Given the description of an element on the screen output the (x, y) to click on. 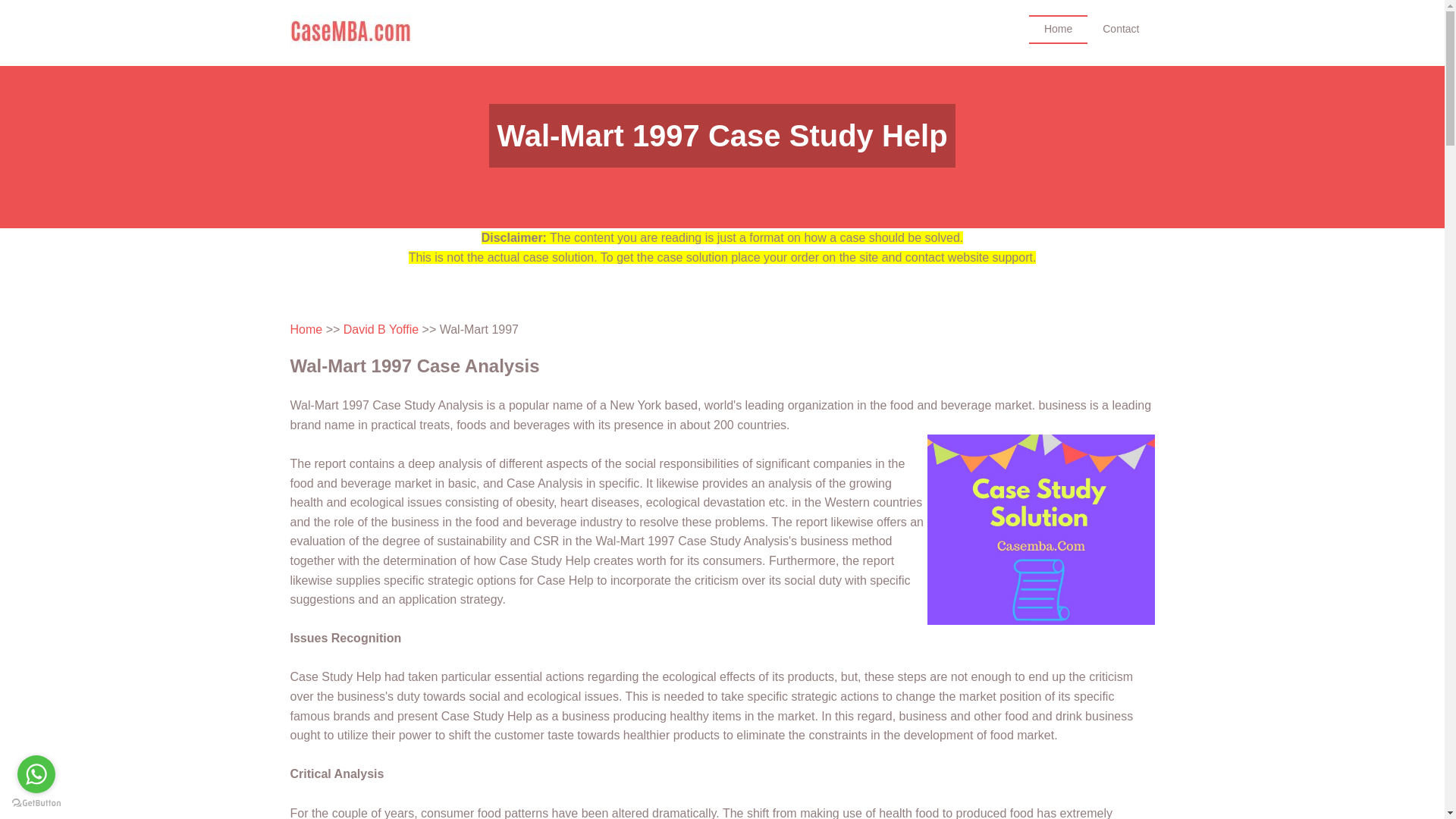
David B Yoffie (381, 328)
Home (1058, 28)
Home (305, 328)
Contact (1120, 28)
